Given the description of an element on the screen output the (x, y) to click on. 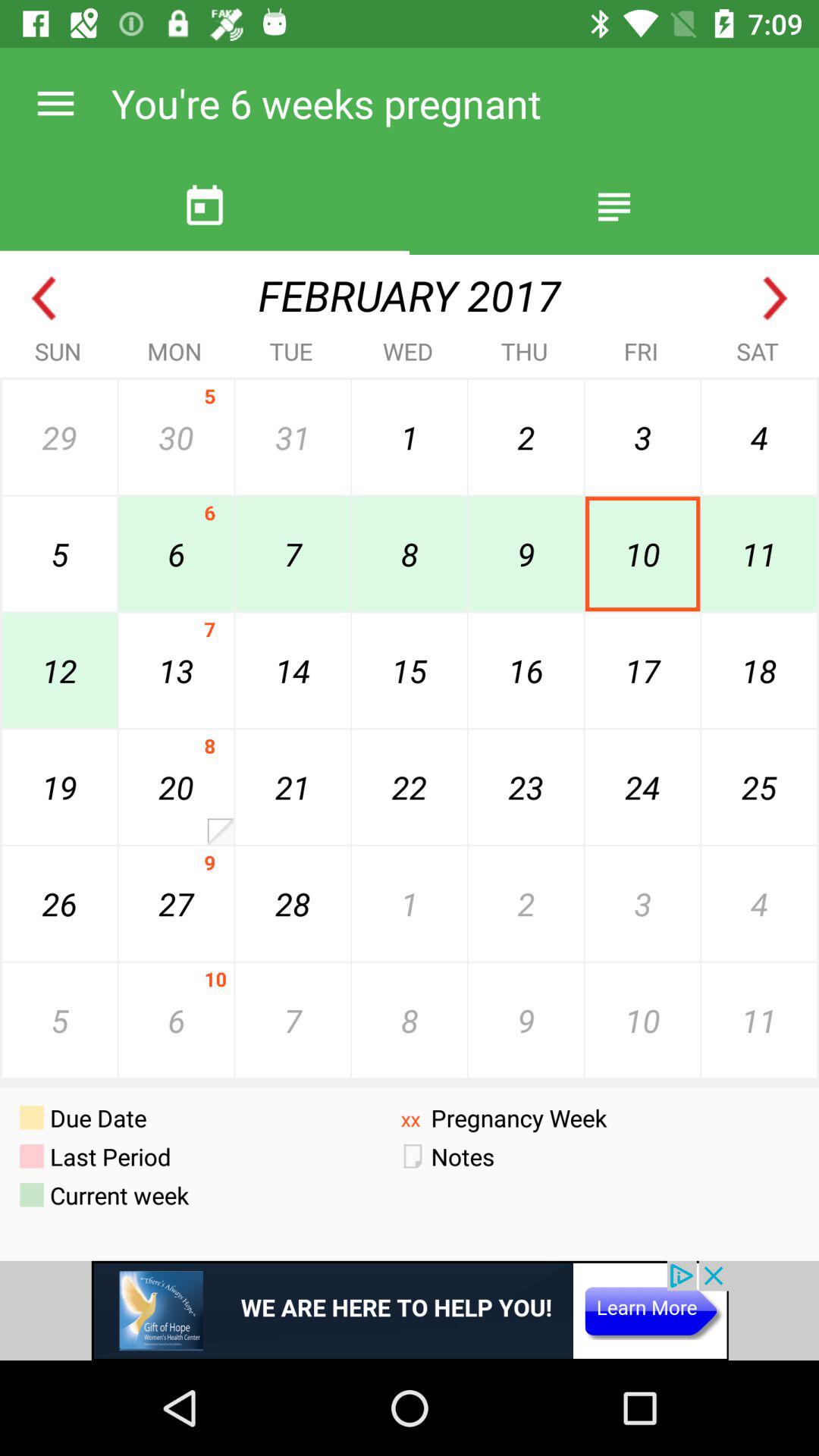
previous month (43, 298)
